Given the description of an element on the screen output the (x, y) to click on. 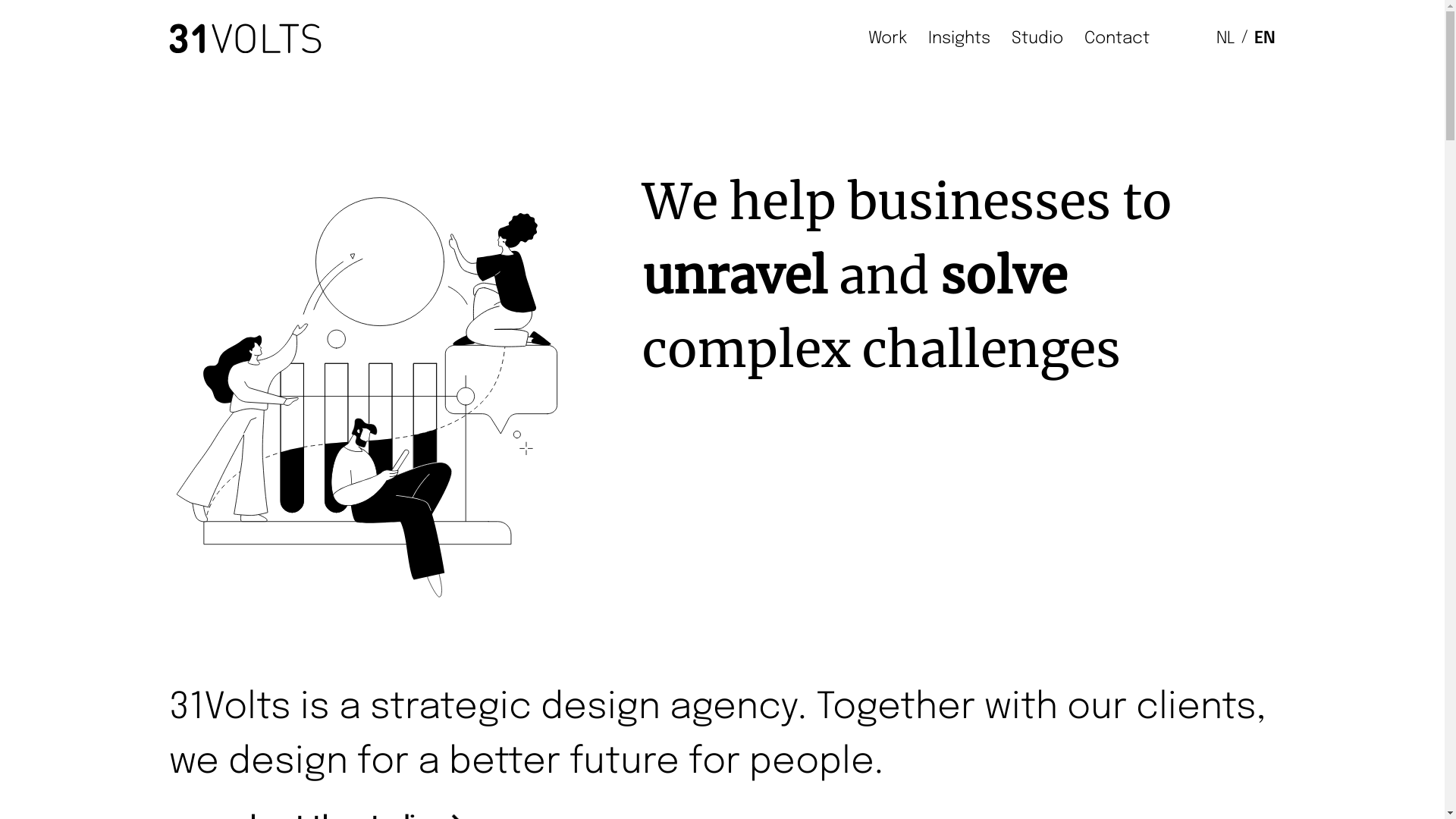
Insights Element type: text (959, 37)
Studio Element type: text (1037, 37)
31V Ontwikkelomgeving Element type: hover (244, 38)
Contact Element type: text (1116, 37)
Work Element type: text (887, 37)
EN Element type: text (1264, 37)
NL Element type: text (1225, 37)
